Given the description of an element on the screen output the (x, y) to click on. 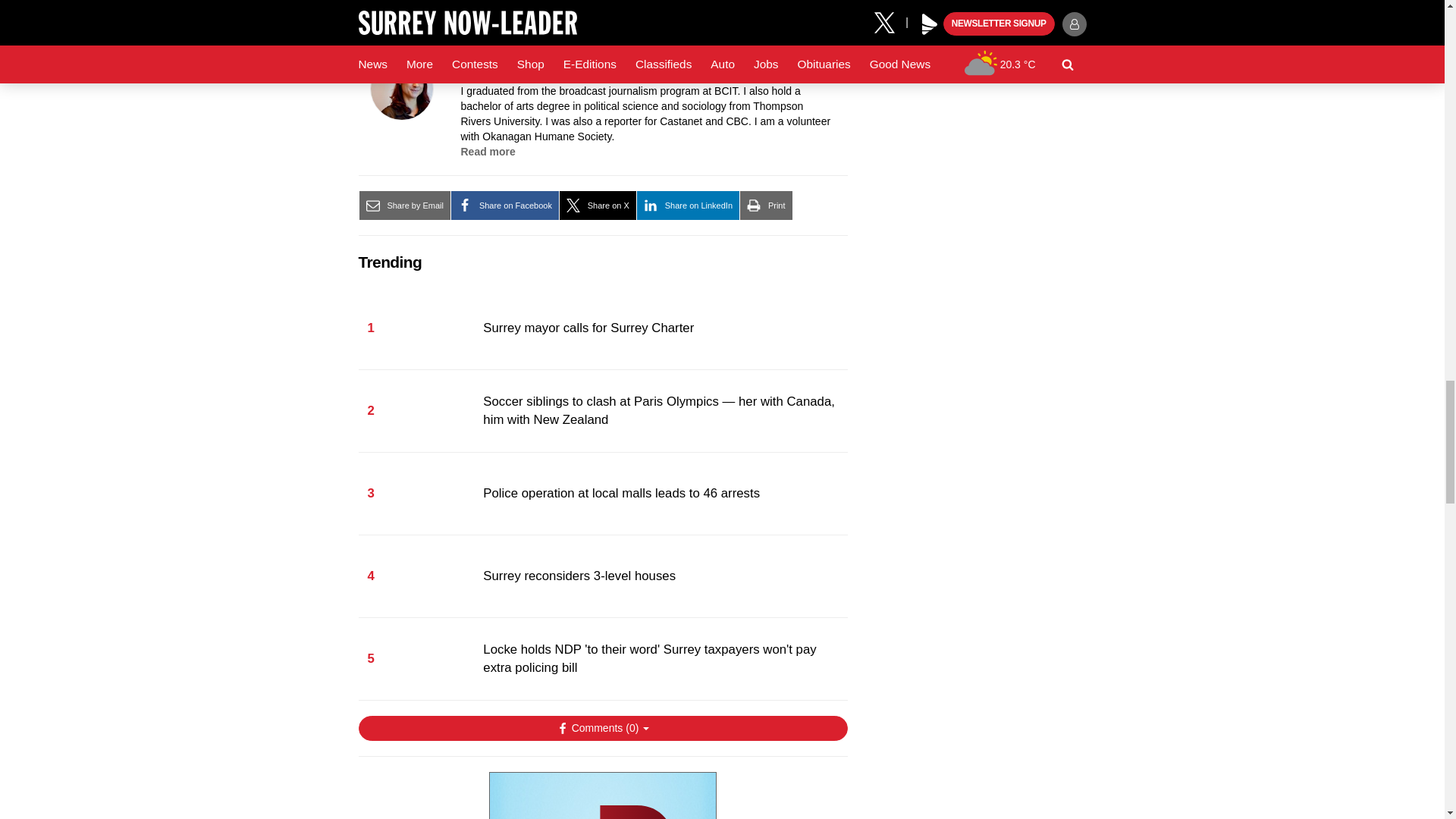
Show Comments (602, 728)
